Given the description of an element on the screen output the (x, y) to click on. 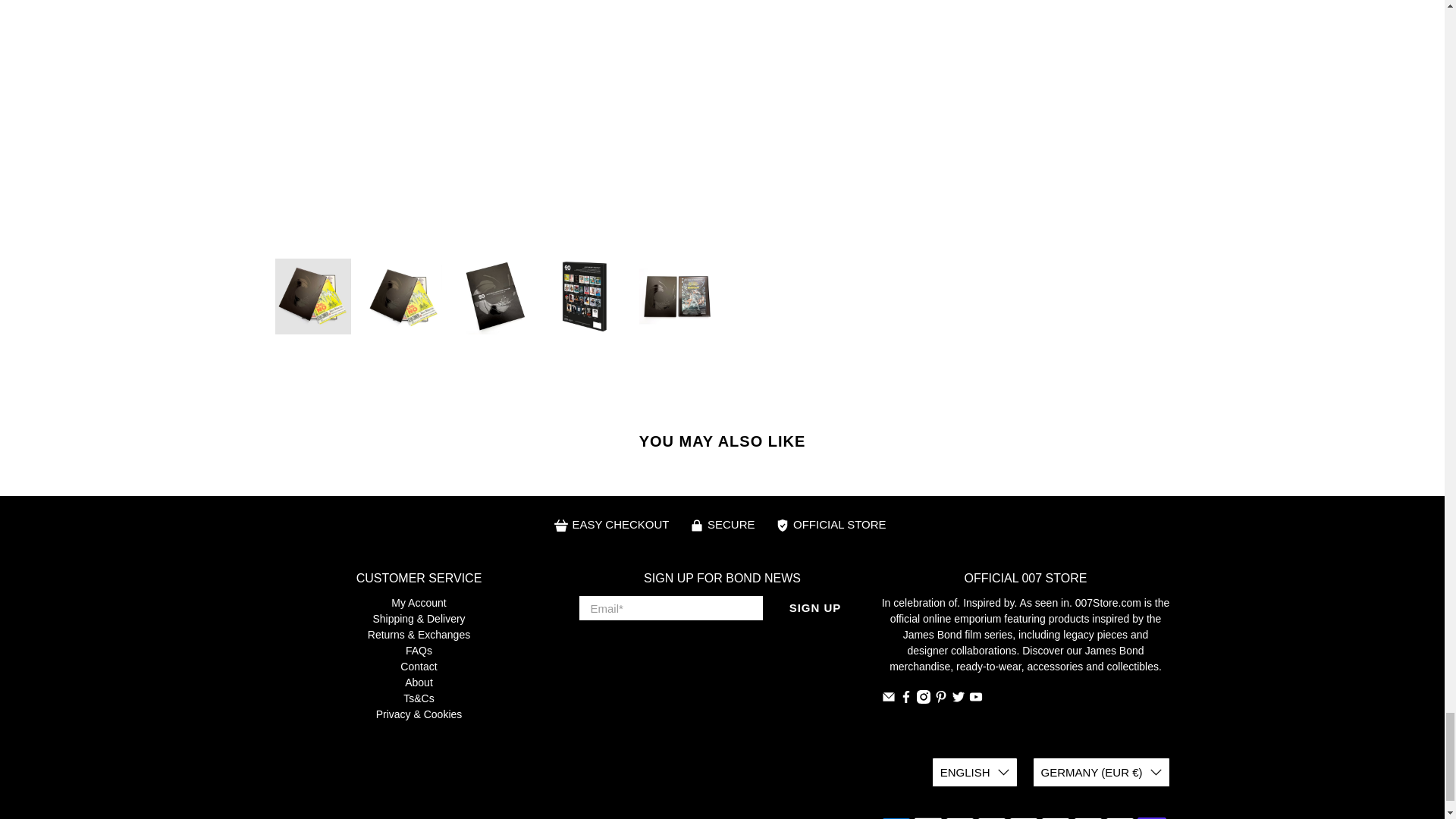
American Express (895, 818)
Apple Pay (928, 818)
Diners Club (959, 818)
Discover (991, 818)
